Given the description of an element on the screen output the (x, y) to click on. 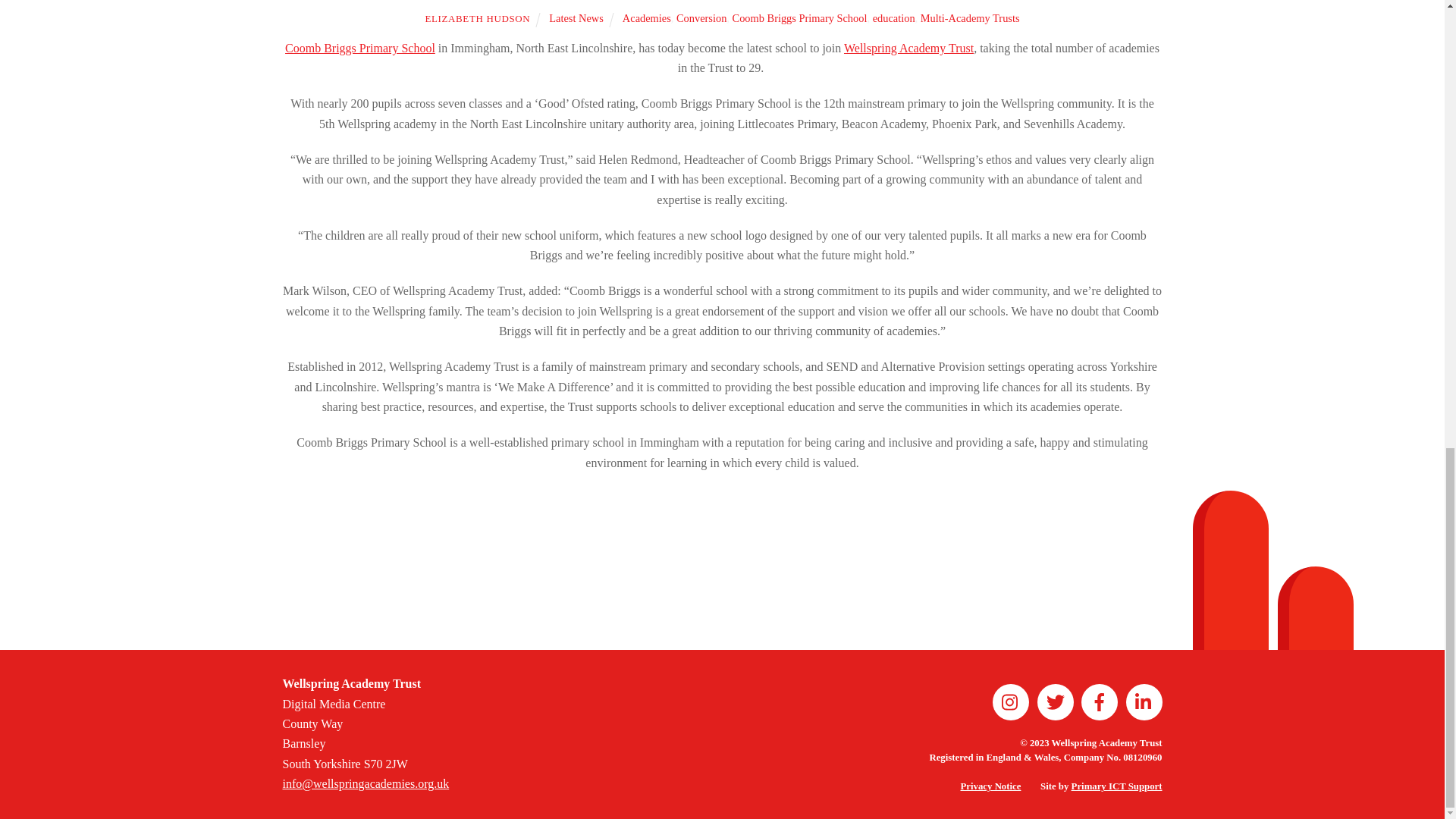
ELIZABETH HUDSON (477, 18)
Latest News (576, 18)
